Given the description of an element on the screen output the (x, y) to click on. 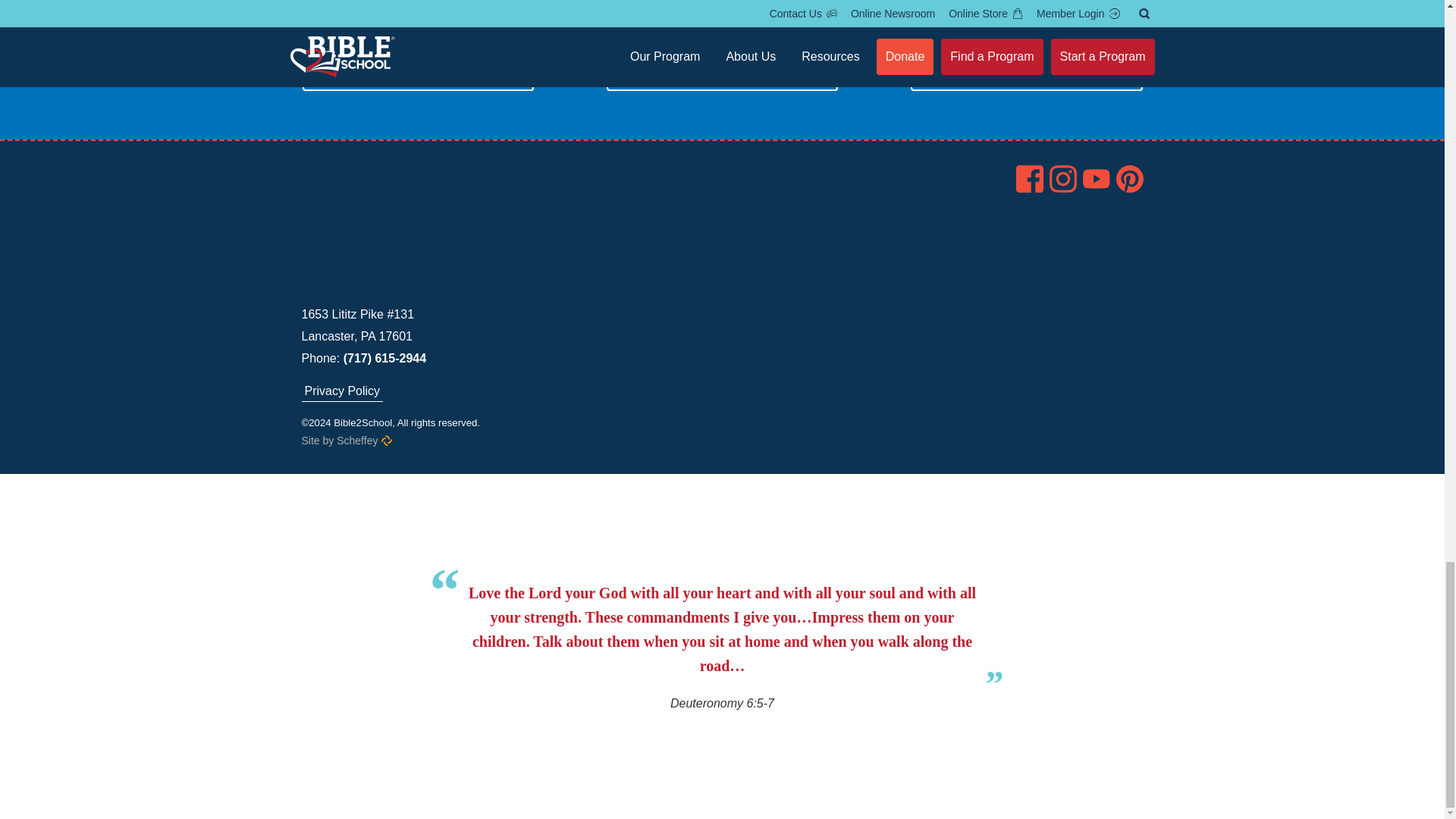
Read (722, 73)
Learn More (1026, 73)
Listen (416, 73)
facebook (1029, 178)
instagramCreated with Sketch. (1063, 178)
youtubeCreated with Sketch. (1096, 178)
